Given the description of an element on the screen output the (x, y) to click on. 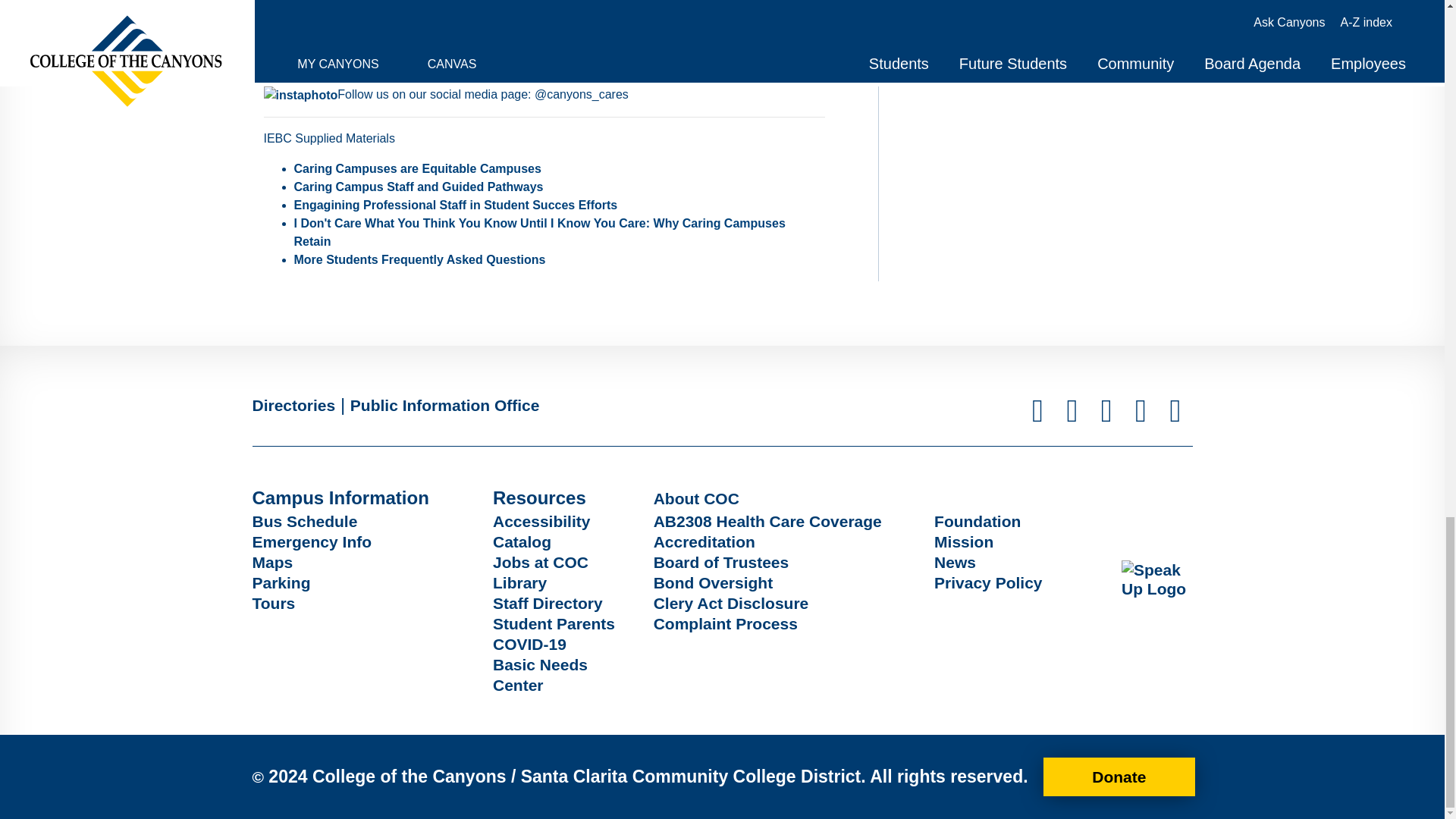
engaging professional staff (455, 205)
caring campus equitable (417, 168)
FAQ (420, 259)
I dont care (540, 232)
Caring Campuses are Equitable Campuses (417, 168)
ccareszoombackground (525, 41)
Caring Campus Staff and Guided Pathways (418, 186)
Digital Kudos Form (319, 4)
Canyons Cares Virtual Zoom background! (525, 41)
IEBC (418, 186)
